Given the description of an element on the screen output the (x, y) to click on. 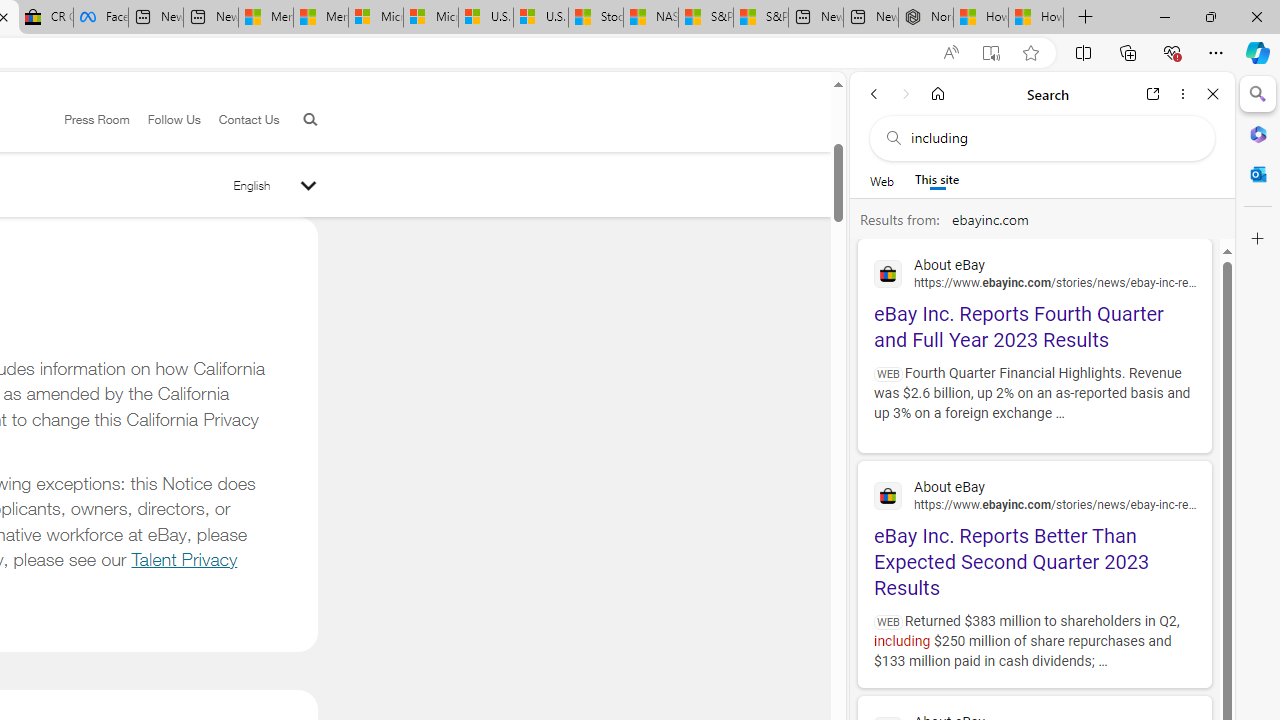
This site scope (937, 180)
eBay Inc. Reports Fourth Quarter and Full Year 2023 Results (1034, 301)
Web scope (882, 180)
Search the web (1051, 137)
